Given the description of an element on the screen output the (x, y) to click on. 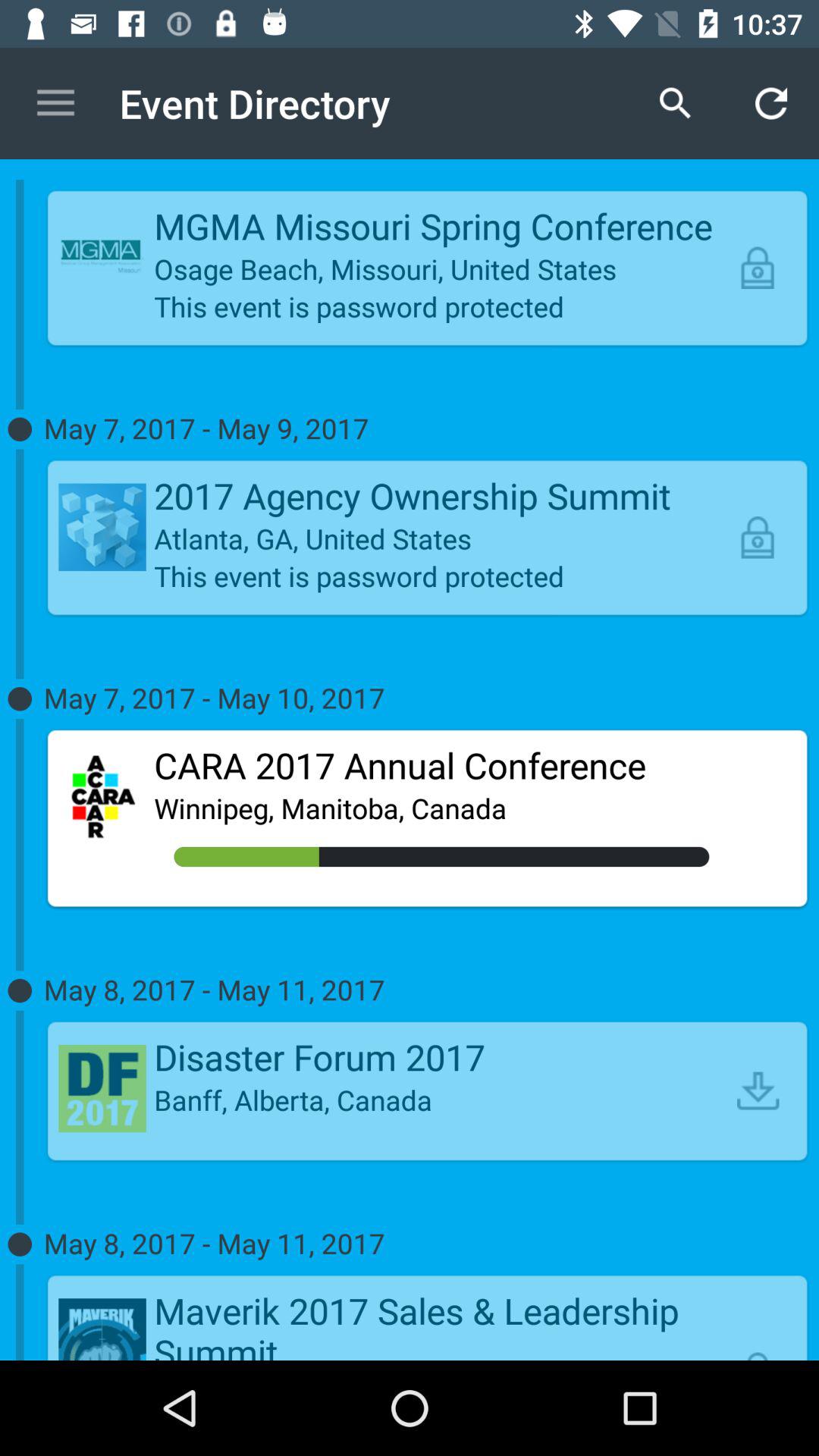
turn off the item below the may 7 2017 item (441, 765)
